Given the description of an element on the screen output the (x, y) to click on. 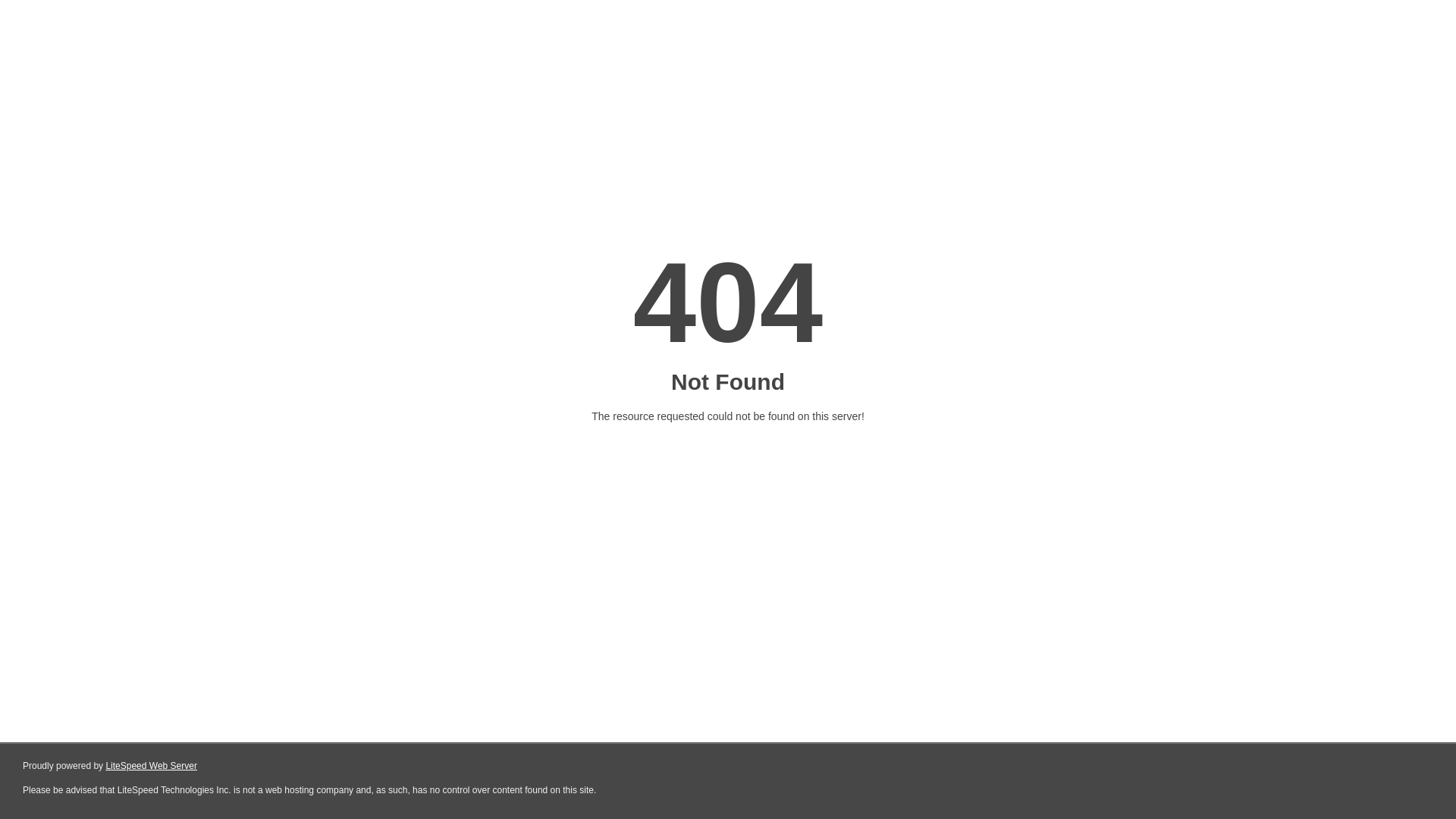
LiteSpeed Web Server Element type: text (151, 765)
